Given the description of an element on the screen output the (x, y) to click on. 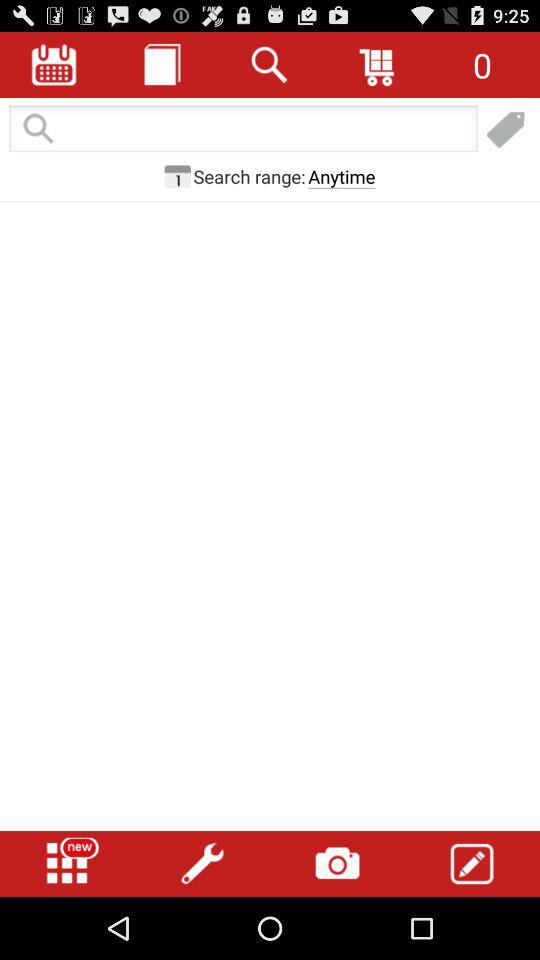
calendar (177, 175)
